Given the description of an element on the screen output the (x, y) to click on. 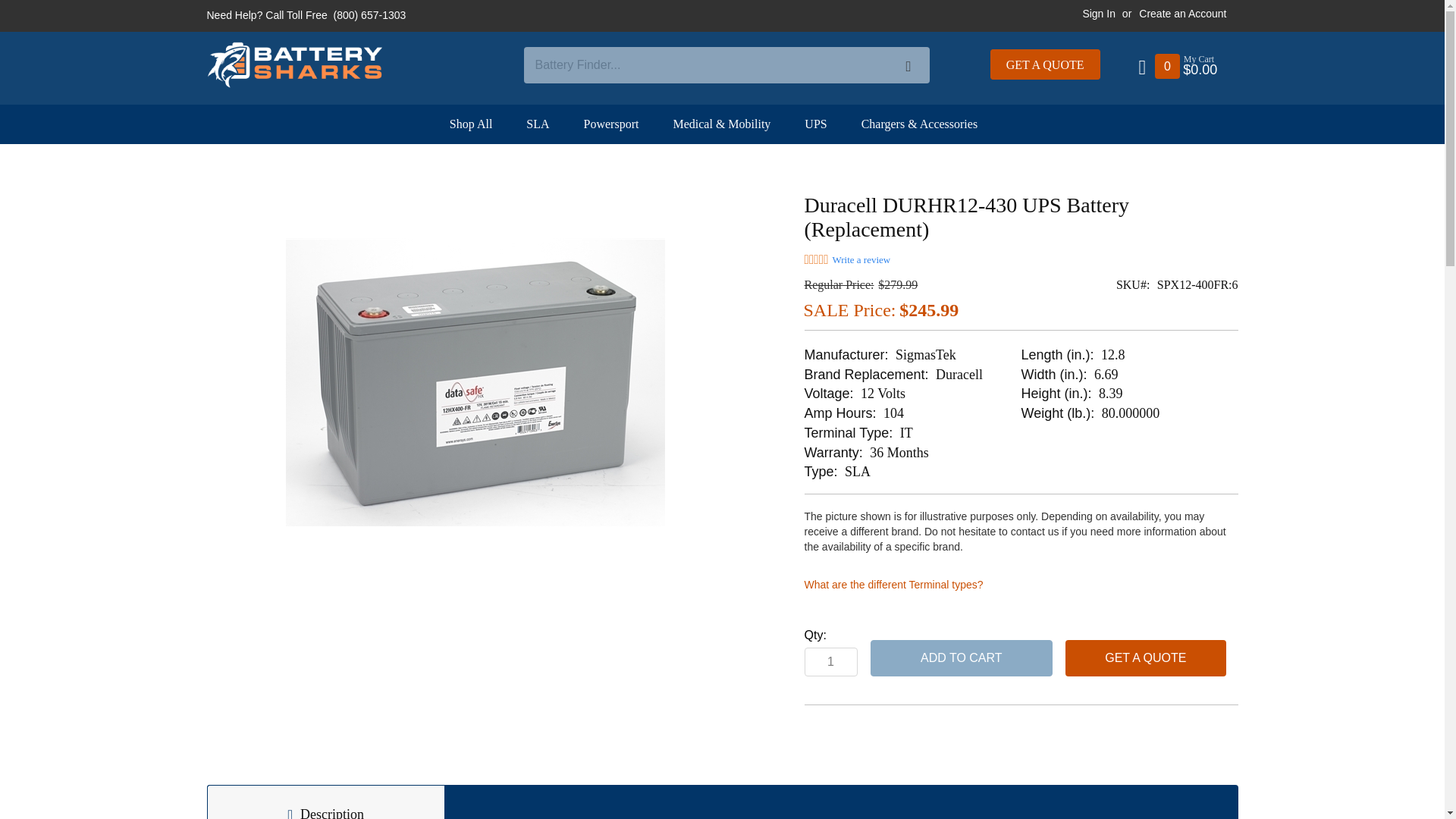
Qty (830, 661)
1 (830, 661)
Sign In (1098, 14)
Shop All (479, 124)
GET A QUOTE (1045, 64)
Add to Cart (961, 657)
Create an Account (1181, 14)
